Given the description of an element on the screen output the (x, y) to click on. 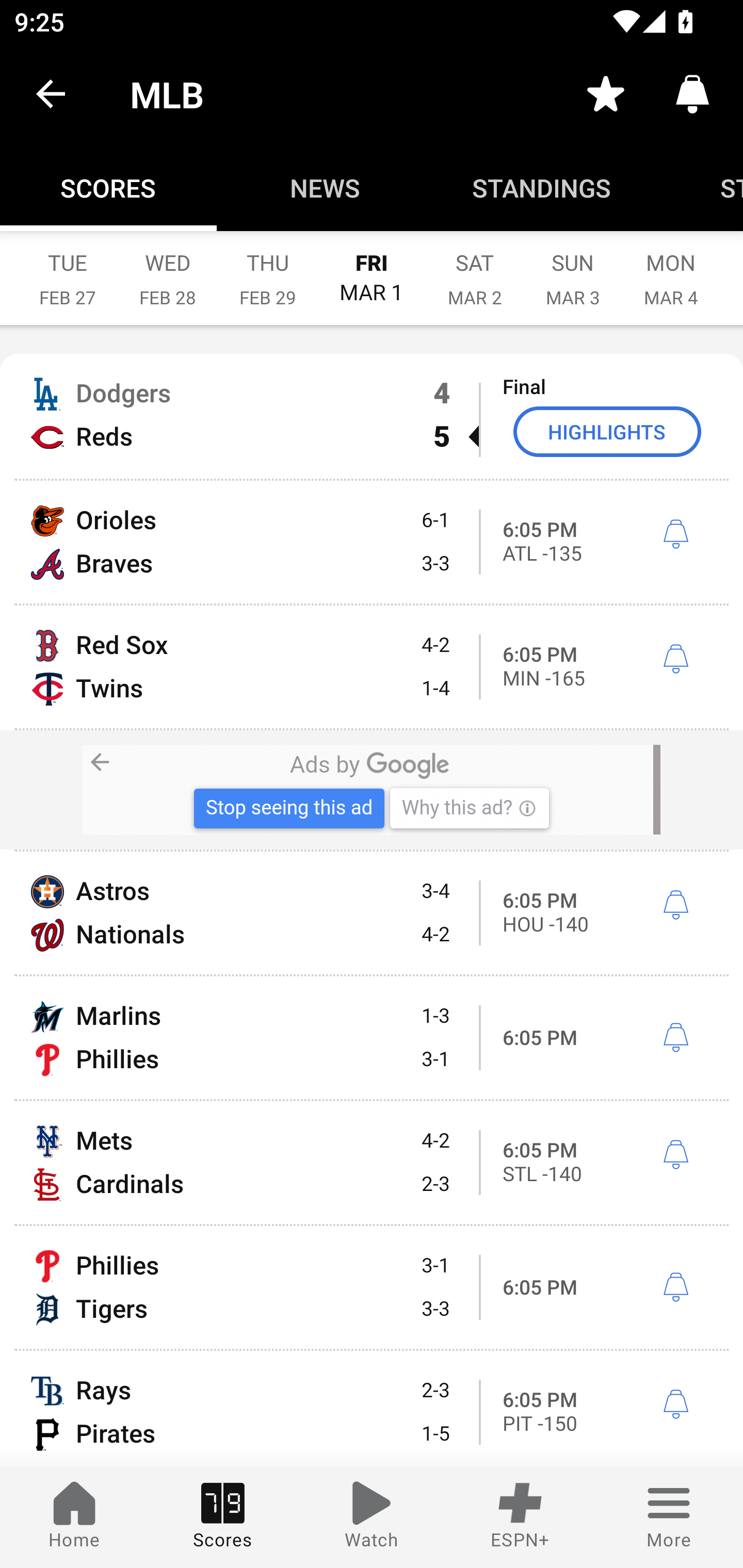
back.button (50, 93)
Favorite toggle (605, 93)
Alerts (692, 93)
News NEWS (324, 187)
Standings STANDINGS (541, 187)
TUE FEB 27 (67, 268)
WED FEB 28 (167, 268)
THU FEB 29 (267, 268)
FRI MAR 1 (371, 267)
SAT MAR 2 (474, 268)
SUN MAR 3 (572, 268)
MON MAR 4 (670, 268)
Dodgers 4 Final Reds 5  HIGHLIGHTS (371, 416)
HIGHLIGHTS (607, 431)
Orioles 6-1 Braves 3-3 6:05 PM ATL -135 í (371, 542)
í (675, 534)
Red Sox 4-2 Twins 1-4 6:05 PM MIN -165 í (371, 666)
í (675, 658)
Astros 3-4 Nationals 4-2 6:05 PM HOU -140 í (371, 912)
í (675, 905)
Marlins 1-3 Phillies 3-1 6:05 PM í (371, 1037)
í (675, 1037)
Mets 4-2 Cardinals 2-3 6:05 PM STL -140 í (371, 1162)
í (675, 1154)
Phillies 3-1 Tigers 3-3 6:05 PM í (371, 1287)
í (675, 1287)
Rays 2-3 Pirates 1-5 6:05 PM PIT -150 í (371, 1409)
í (675, 1404)
Home (74, 1517)
Watch (371, 1517)
ESPN+ (519, 1517)
More (668, 1517)
